Given the description of an element on the screen output the (x, y) to click on. 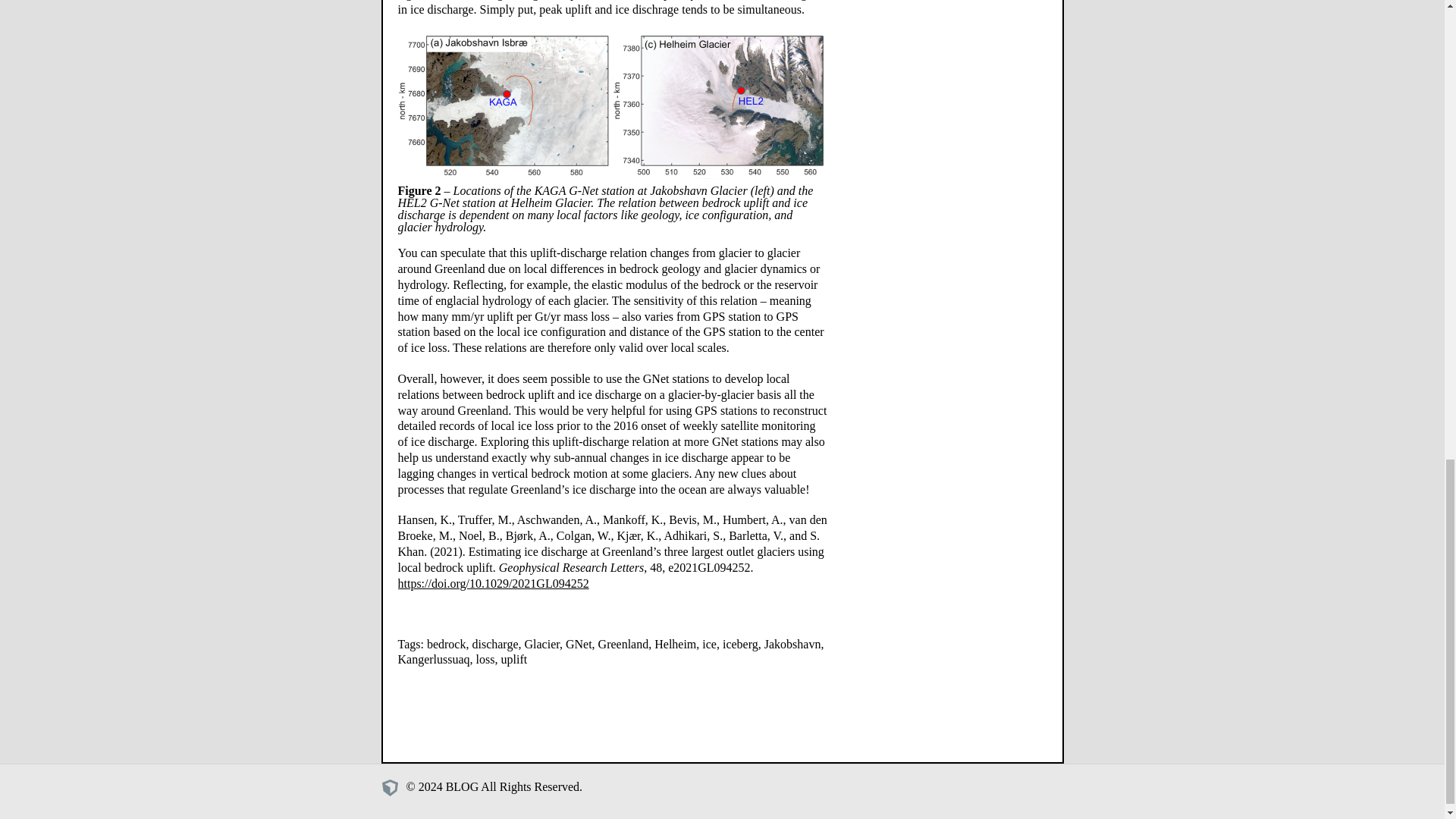
bedrock (445, 644)
Kangerlussuaq (432, 658)
uplift (513, 658)
iceberg (740, 644)
Greenland (623, 644)
GNet (579, 644)
Glacier (541, 644)
loss (485, 658)
discharge (494, 644)
Helheim (674, 644)
